Given the description of an element on the screen output the (x, y) to click on. 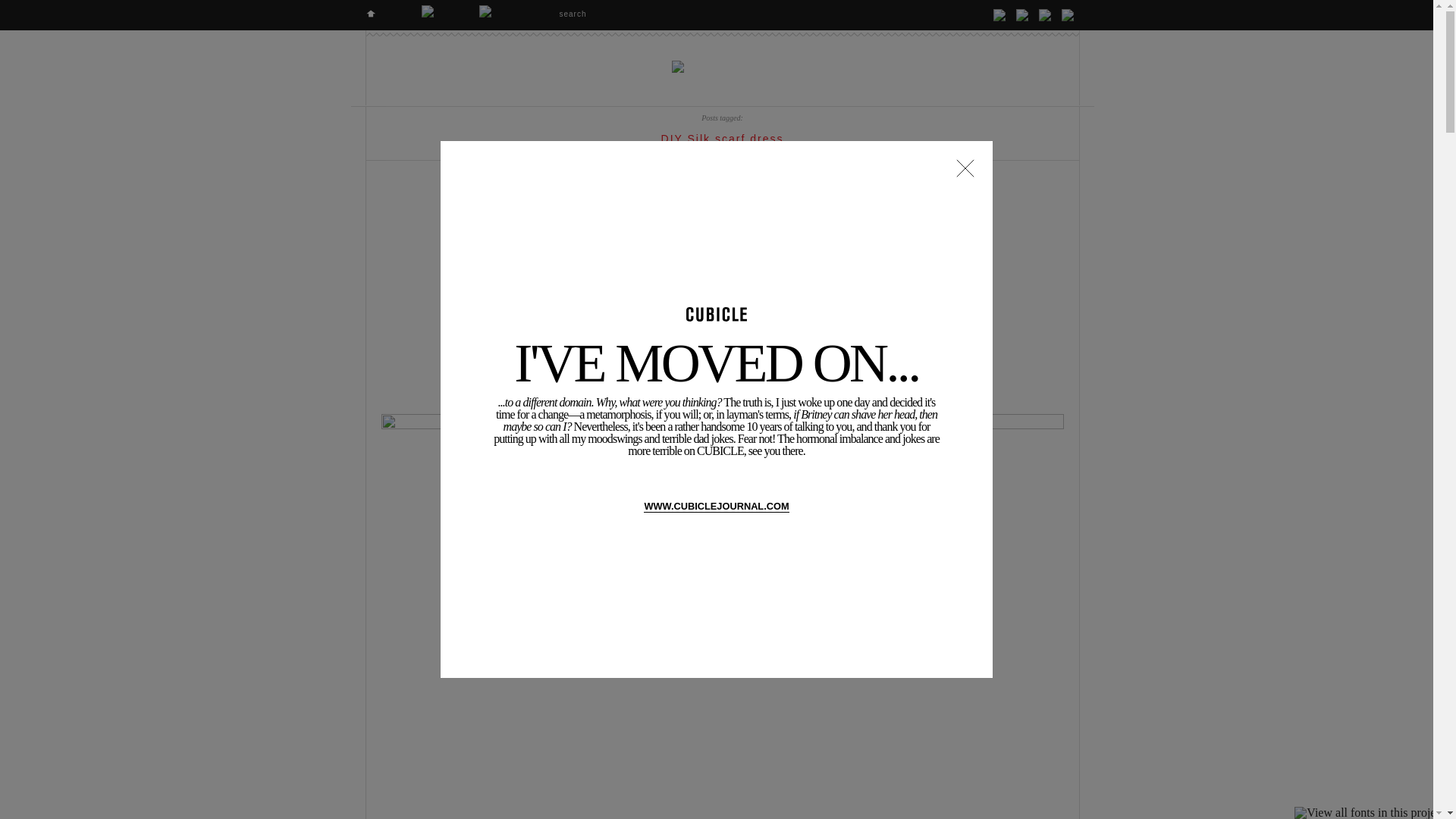
search (599, 13)
WWW.CUBICLEJOURNAL.COM (716, 506)
